Given the description of an element on the screen output the (x, y) to click on. 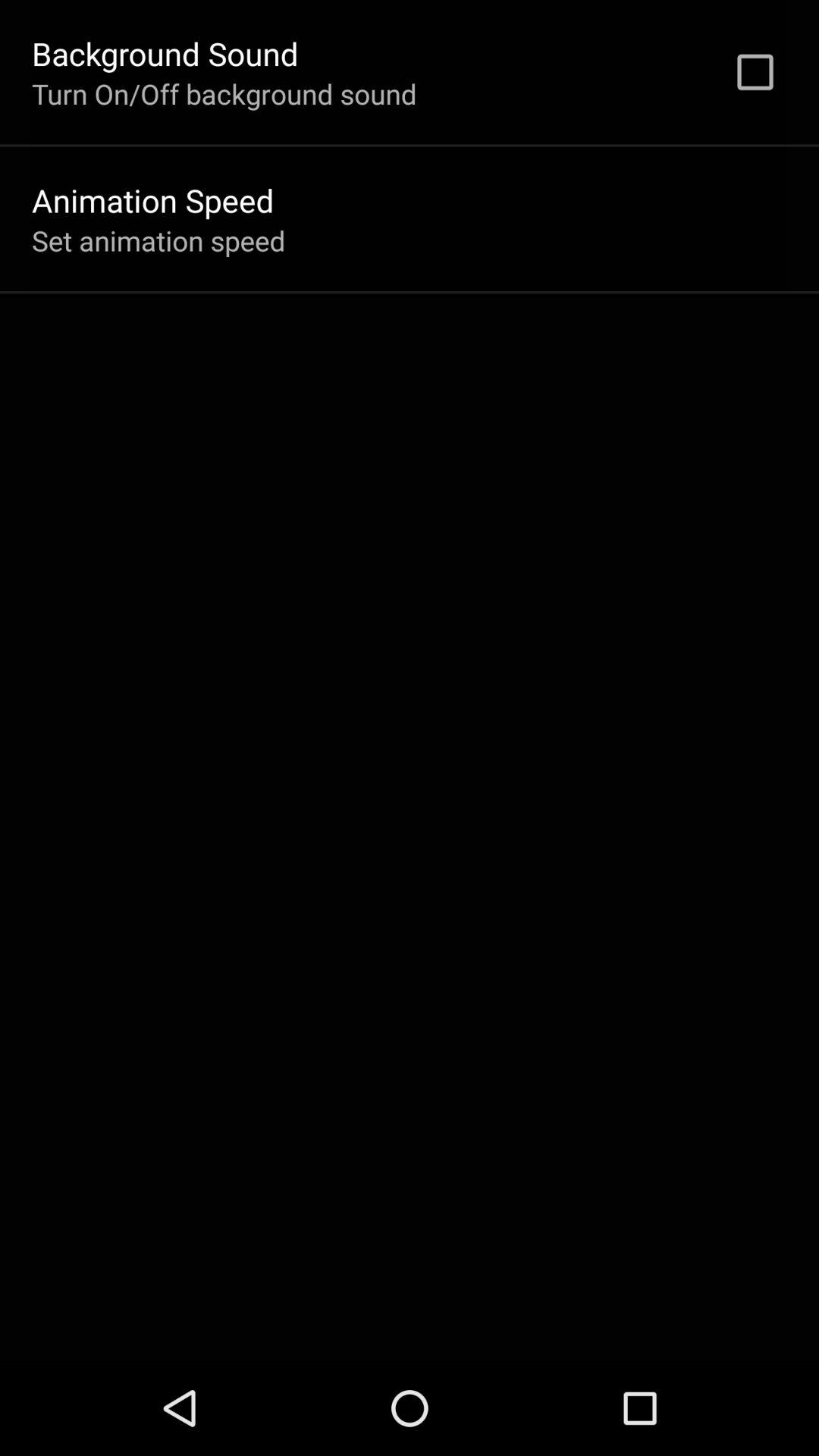
turn on the item above the animation speed item (223, 93)
